Given the description of an element on the screen output the (x, y) to click on. 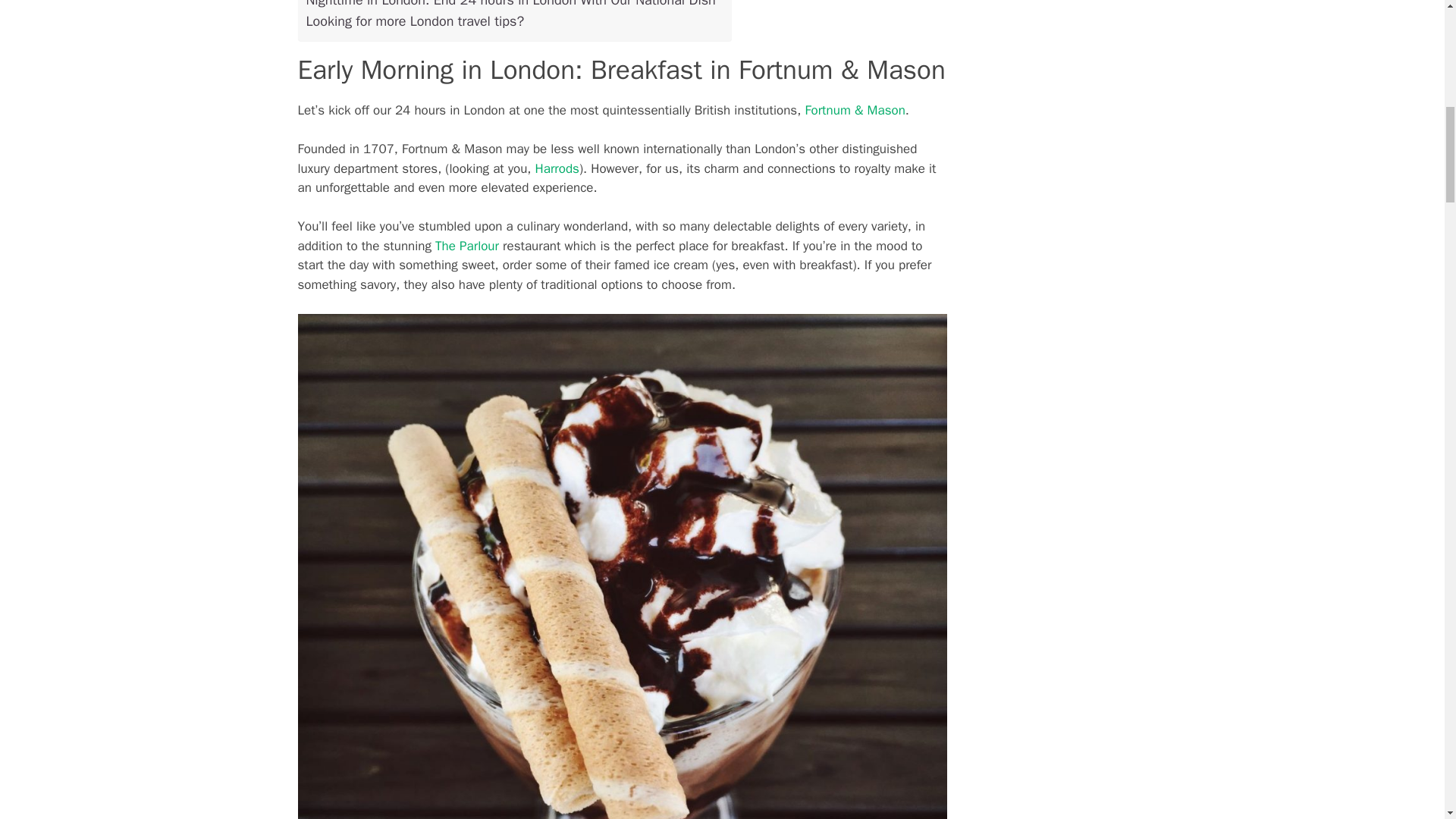
Looking for more London travel tips? (414, 21)
